Given the description of an element on the screen output the (x, y) to click on. 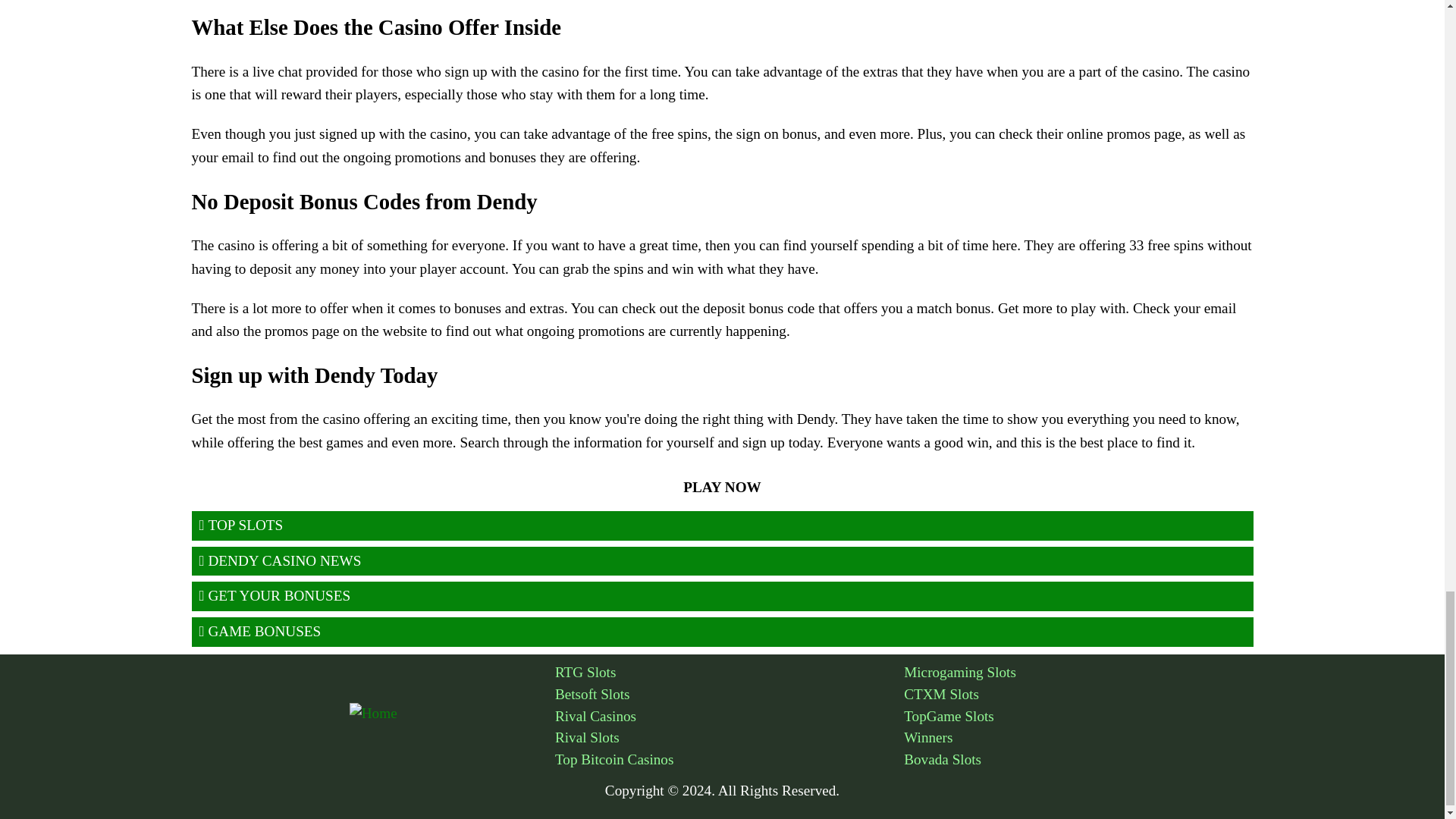
Microgaming Slots (1078, 672)
Rival Slots (729, 738)
Top Bitcoin Casinos (729, 760)
PLAY NOW (722, 487)
RTG Slots (729, 672)
CTXM Slots (1078, 694)
Winners (1078, 738)
Rival Casinos (729, 716)
Bovada Slots (1078, 760)
Betsoft Slots (729, 694)
TopGame Slots (1078, 716)
